Given the description of an element on the screen output the (x, y) to click on. 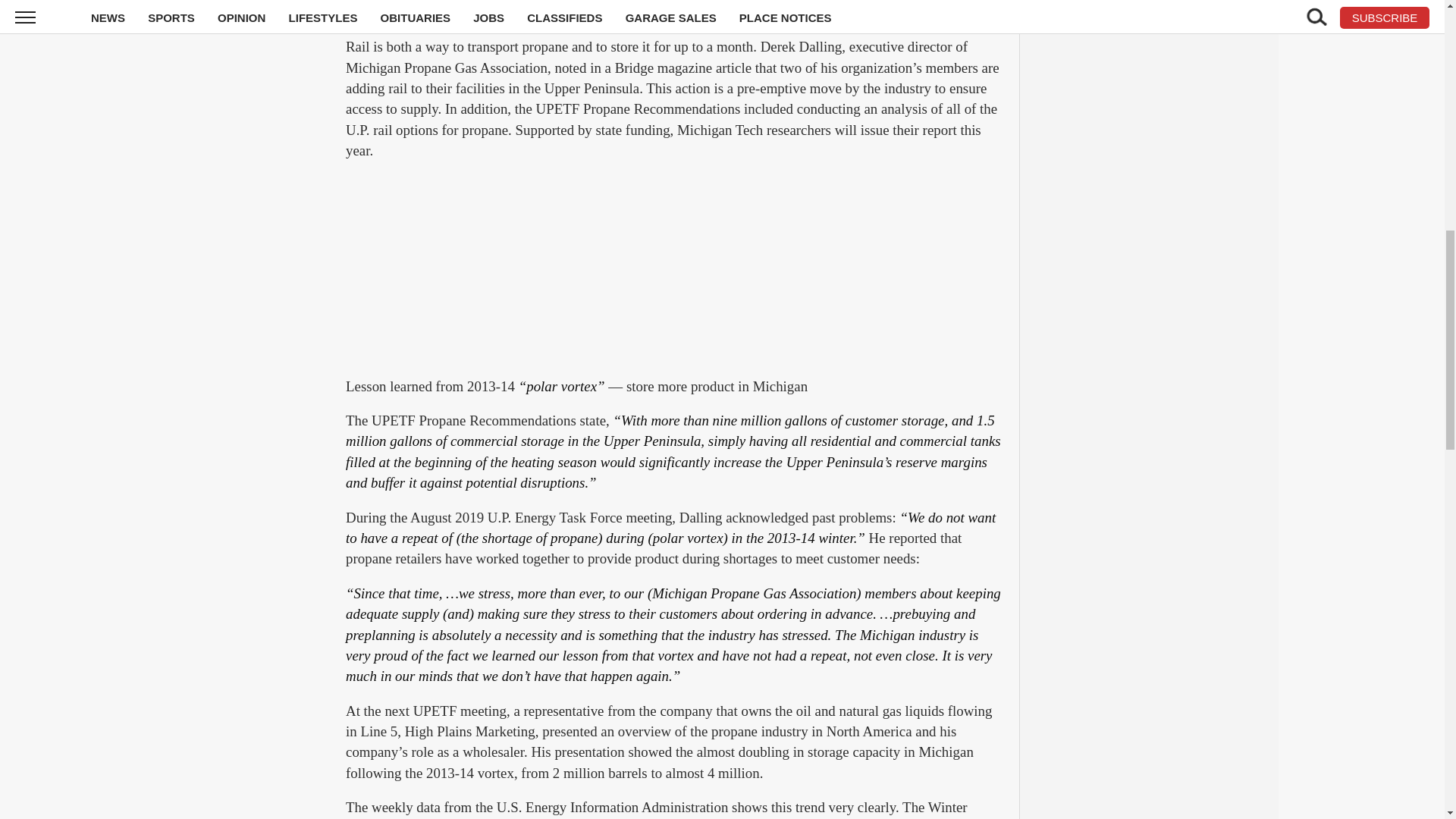
3rd party ad content (674, 269)
